Given the description of an element on the screen output the (x, y) to click on. 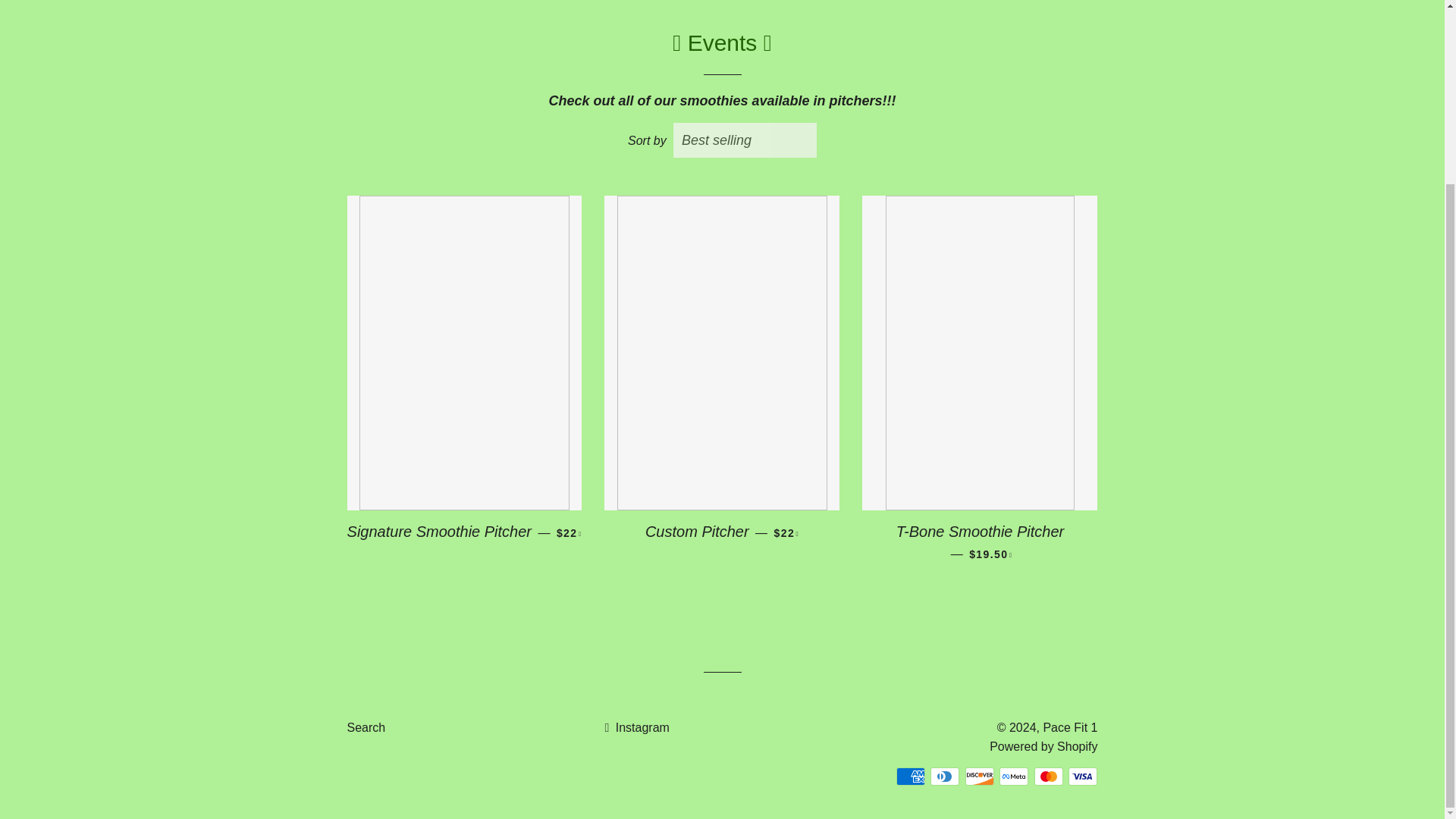
Discover (979, 776)
Pace Fit 1 (1069, 726)
Meta Pay (1012, 776)
Powered by Shopify (1043, 746)
Instagram (636, 726)
Visa (1082, 776)
Pace Fit 1 on Instagram (636, 726)
Mastercard (1047, 776)
American Express (910, 776)
Diners Club (944, 776)
Search (366, 726)
